Given the description of an element on the screen output the (x, y) to click on. 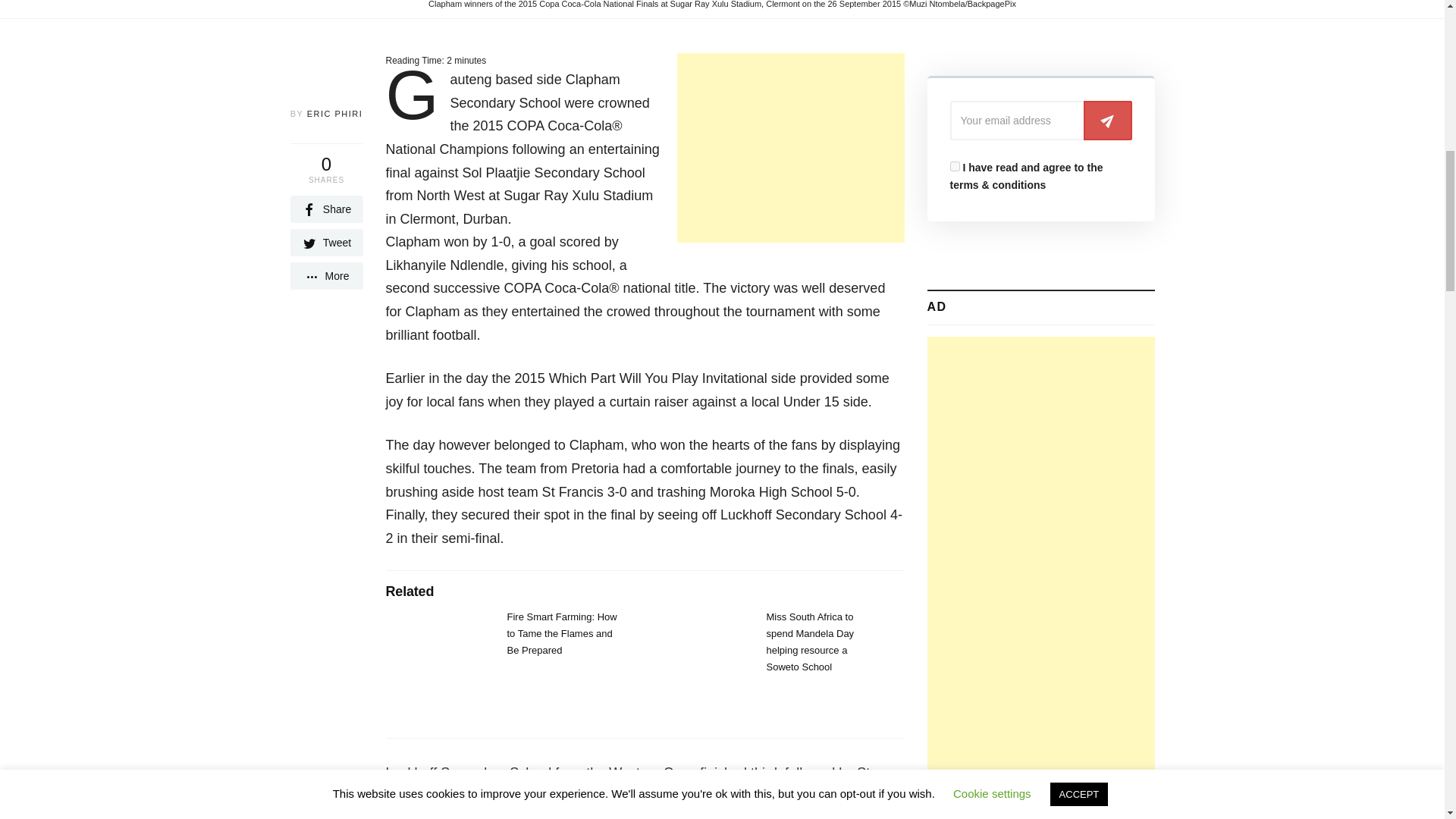
More (325, 275)
Share on Facebook (325, 208)
Tweet (325, 242)
1 (954, 166)
ERIC PHIRI (334, 112)
Fire Smart Farming: How to Tame the Flames and Be Prepared (560, 633)
Share (325, 208)
Share on Twitter (325, 242)
Fire Smart Farming: How to Tame the Flames and Be Prepared (560, 633)
